Given the description of an element on the screen output the (x, y) to click on. 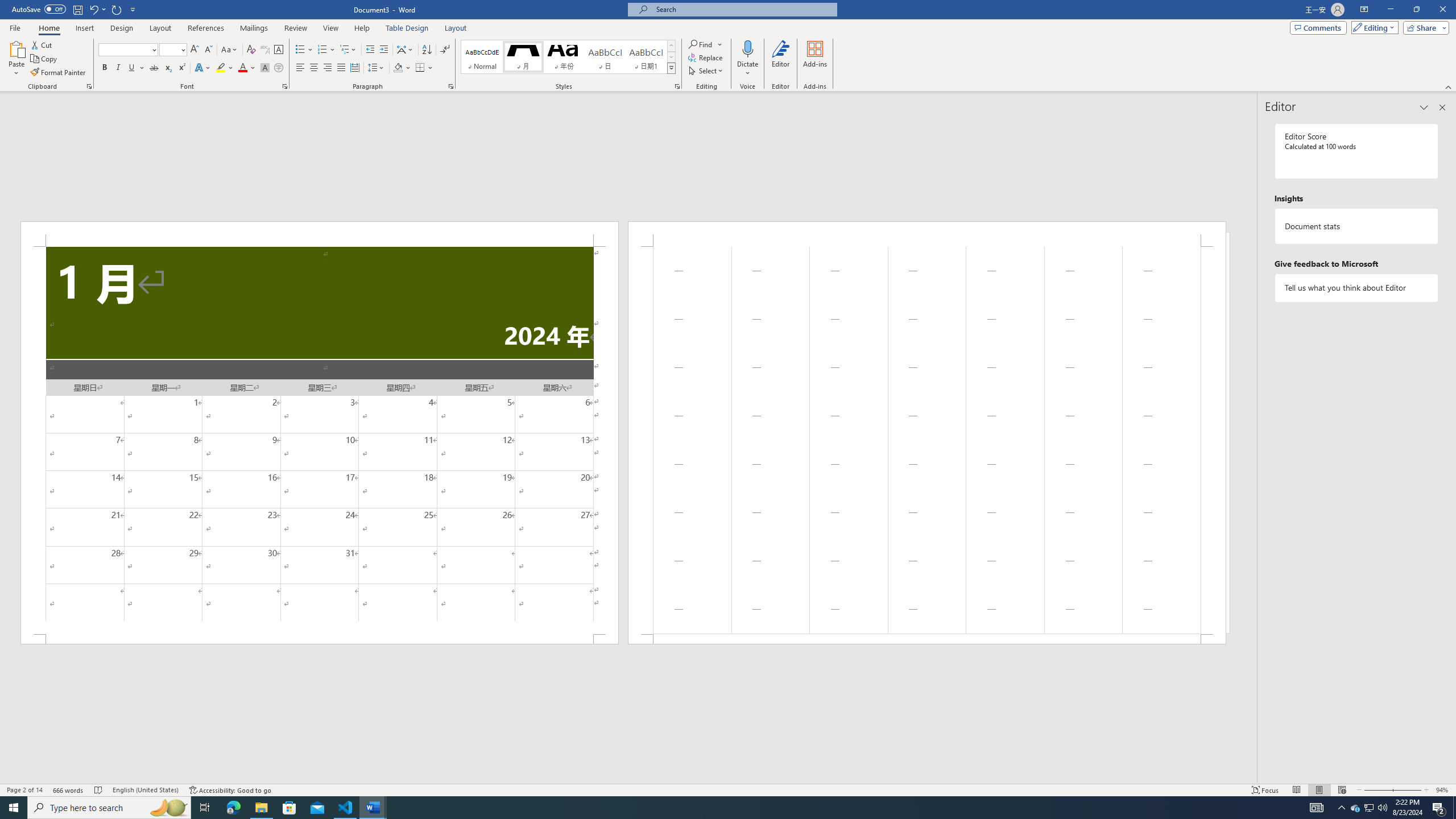
Font Color RGB(255, 0, 0) (241, 67)
